Given the description of an element on the screen output the (x, y) to click on. 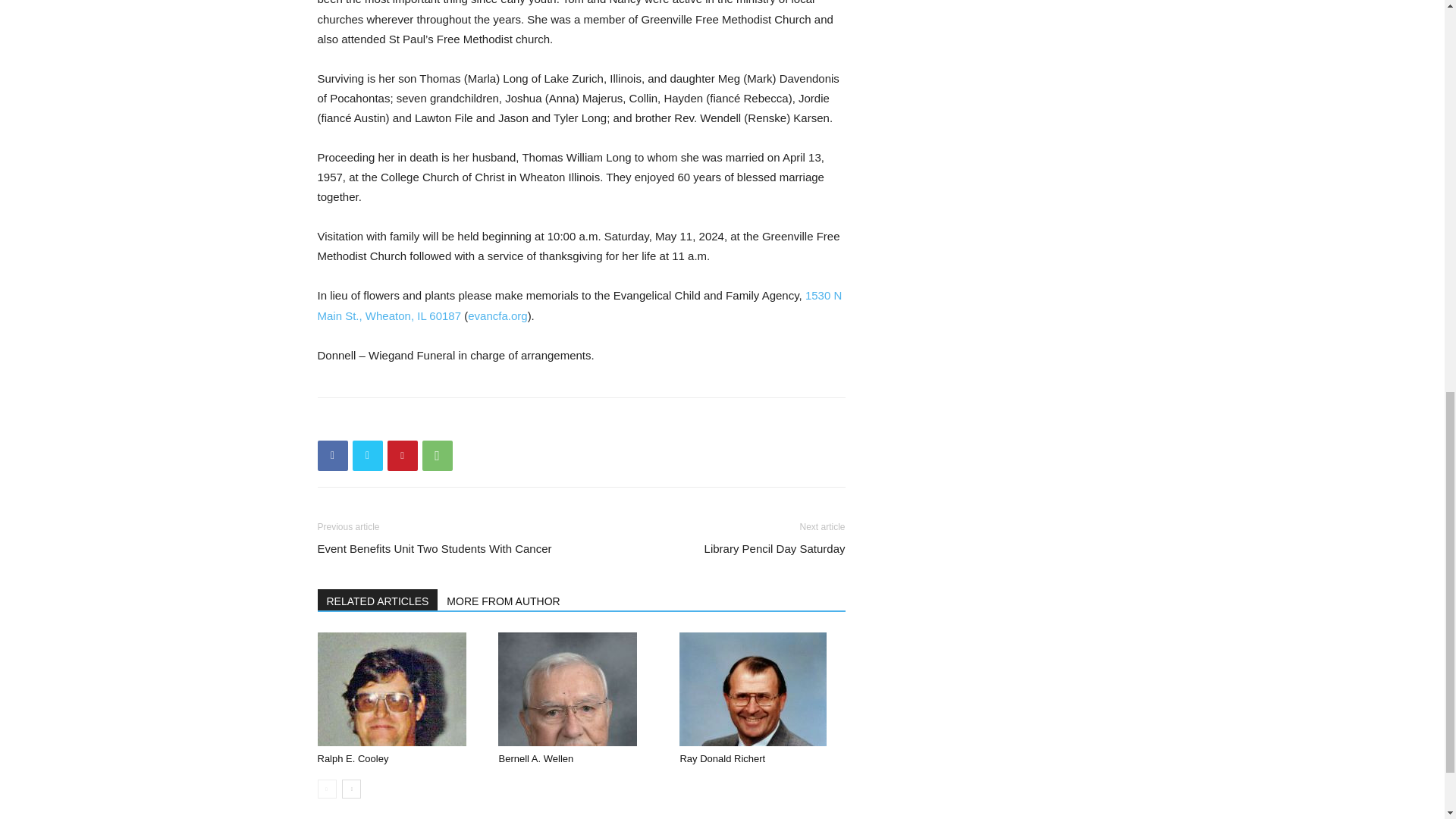
bottomFacebookLike (430, 421)
evancfa.org (497, 315)
Bernell A. Wellen (580, 689)
Bernell A. Wellen (567, 689)
Pinterest (401, 455)
Ralph E. Cooley (391, 689)
Facebook (332, 455)
WhatsApp (436, 455)
Ralph E. Cooley (399, 689)
1530 N Main St., Wheaton, IL 60187 (579, 305)
Bernell A. Wellen (535, 758)
Ralph E. Cooley (352, 758)
Twitter (366, 455)
